Given the description of an element on the screen output the (x, y) to click on. 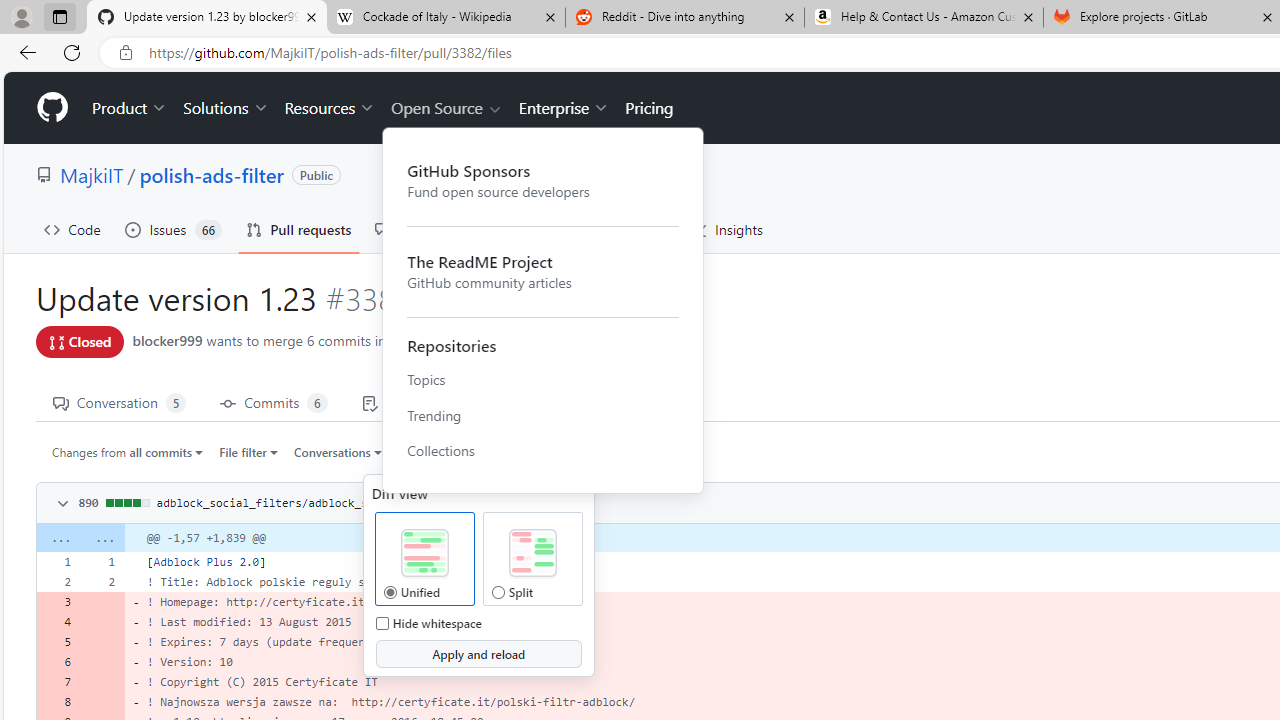
GitHub SponsorsFund open source developers (543, 180)
Discussions (424, 229)
Insights (726, 229)
Trending (543, 415)
Changes from all commits (127, 451)
Unified Diff View Unified (389, 591)
Pull requests (298, 229)
Topics (543, 379)
Product (130, 107)
Insights (726, 229)
7 (58, 681)
4 (58, 622)
8 (58, 701)
